Given the description of an element on the screen output the (x, y) to click on. 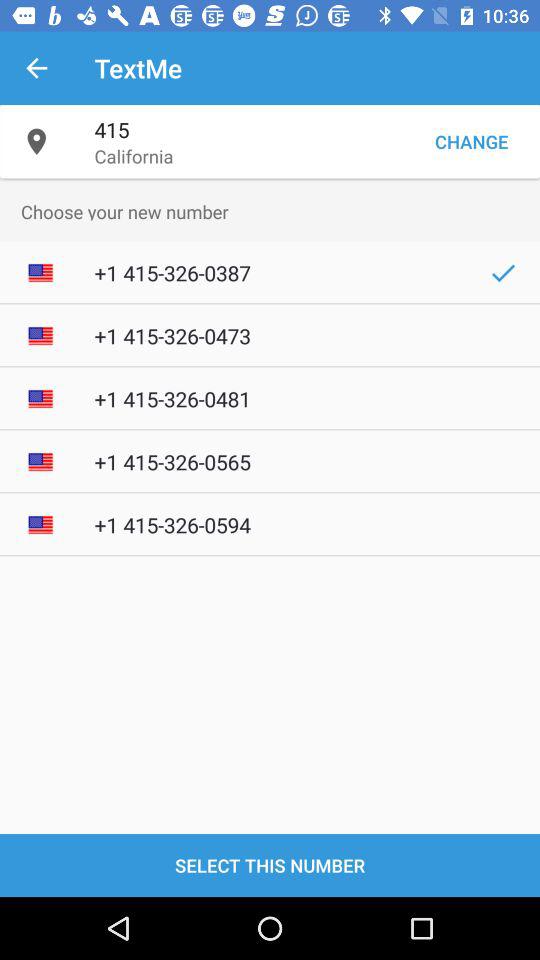
click the icon to the left of textme icon (36, 68)
